Given the description of an element on the screen output the (x, y) to click on. 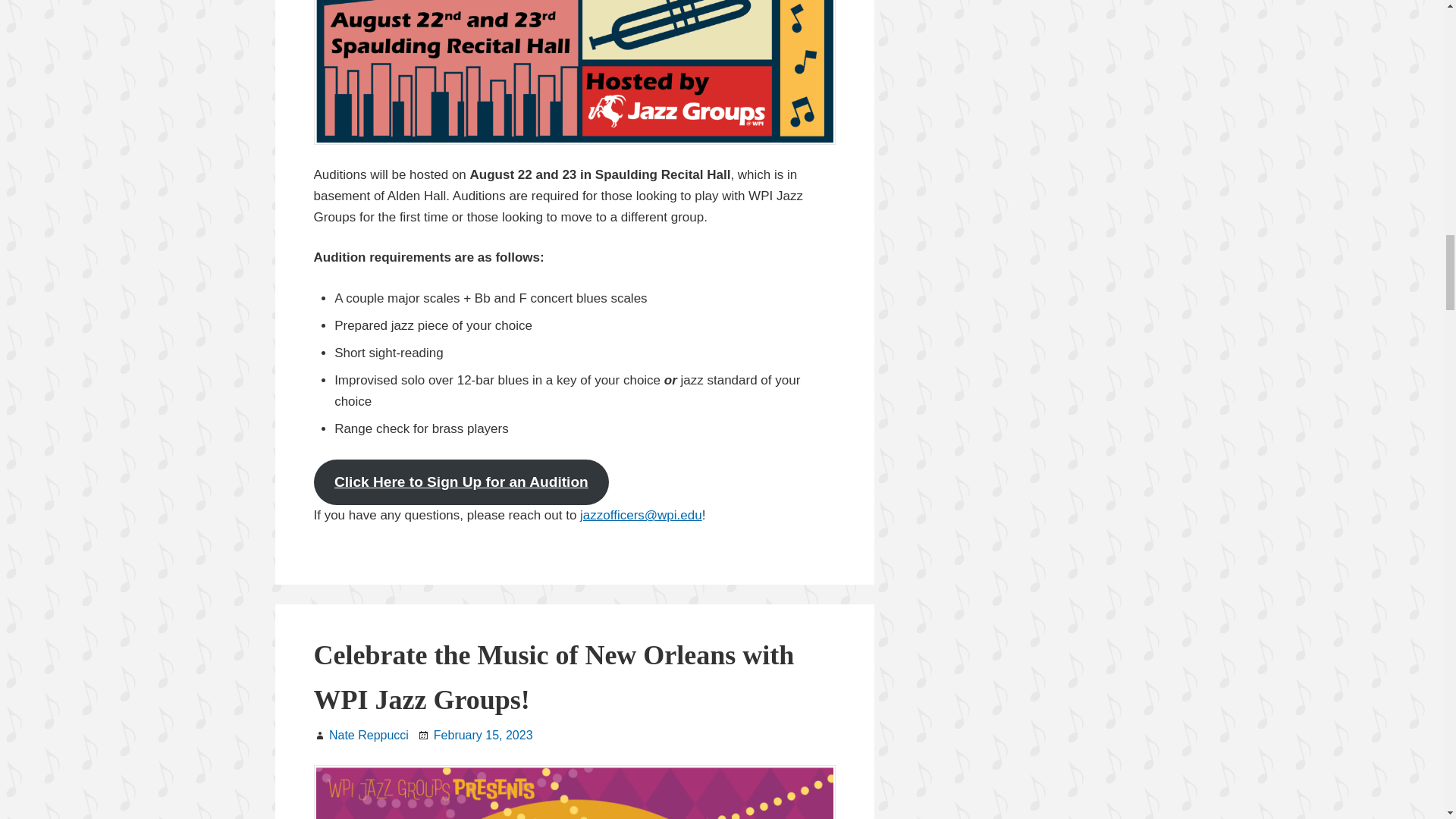
Nate Reppucci (369, 735)
Click Here to Sign Up for an Audition (462, 482)
Celebrate the Music of New Orleans with WPI Jazz Groups! (554, 676)
February 15, 2023 (482, 735)
